Given the description of an element on the screen output the (x, y) to click on. 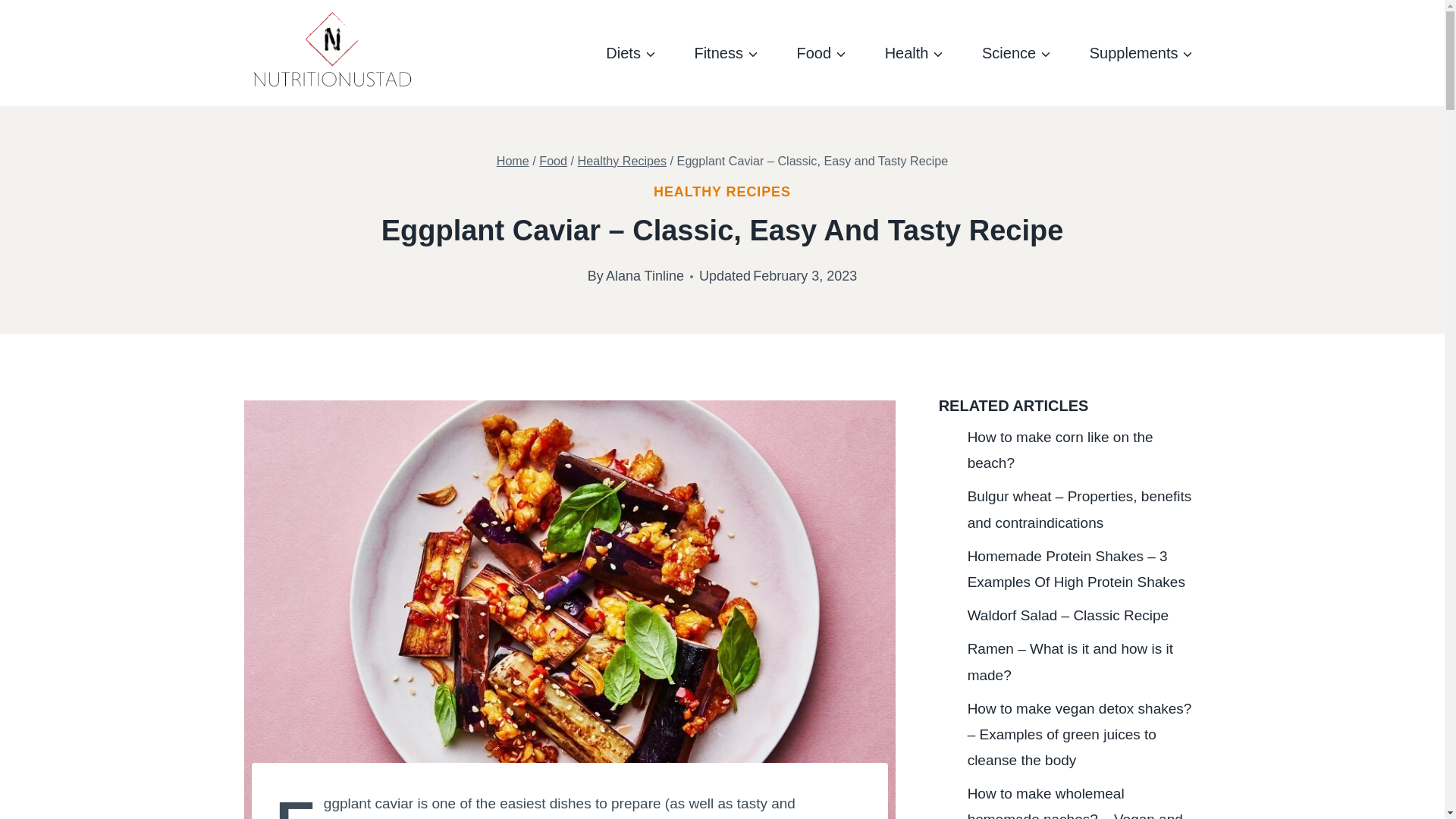
Science (1016, 52)
Fitness (725, 52)
Healthy Recipes (622, 160)
Health (914, 52)
Food (552, 160)
Alana Tinline (644, 275)
Diets (630, 52)
Supplements (1141, 52)
HEALTHY RECIPES (721, 191)
Food (820, 52)
Home (512, 160)
